Given the description of an element on the screen output the (x, y) to click on. 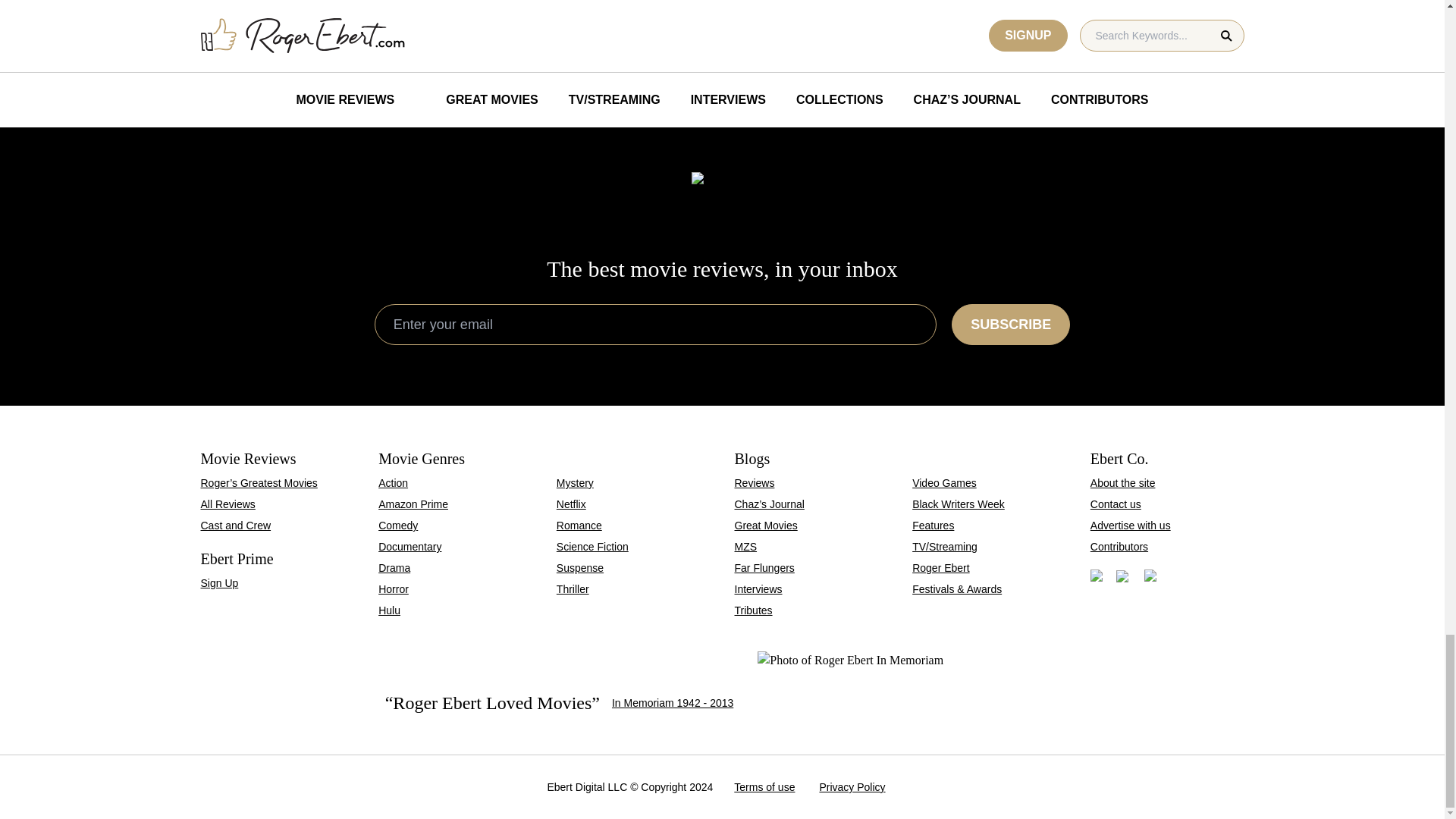
Subscribe (1011, 323)
Subscribe (1011, 323)
